Given the description of an element on the screen output the (x, y) to click on. 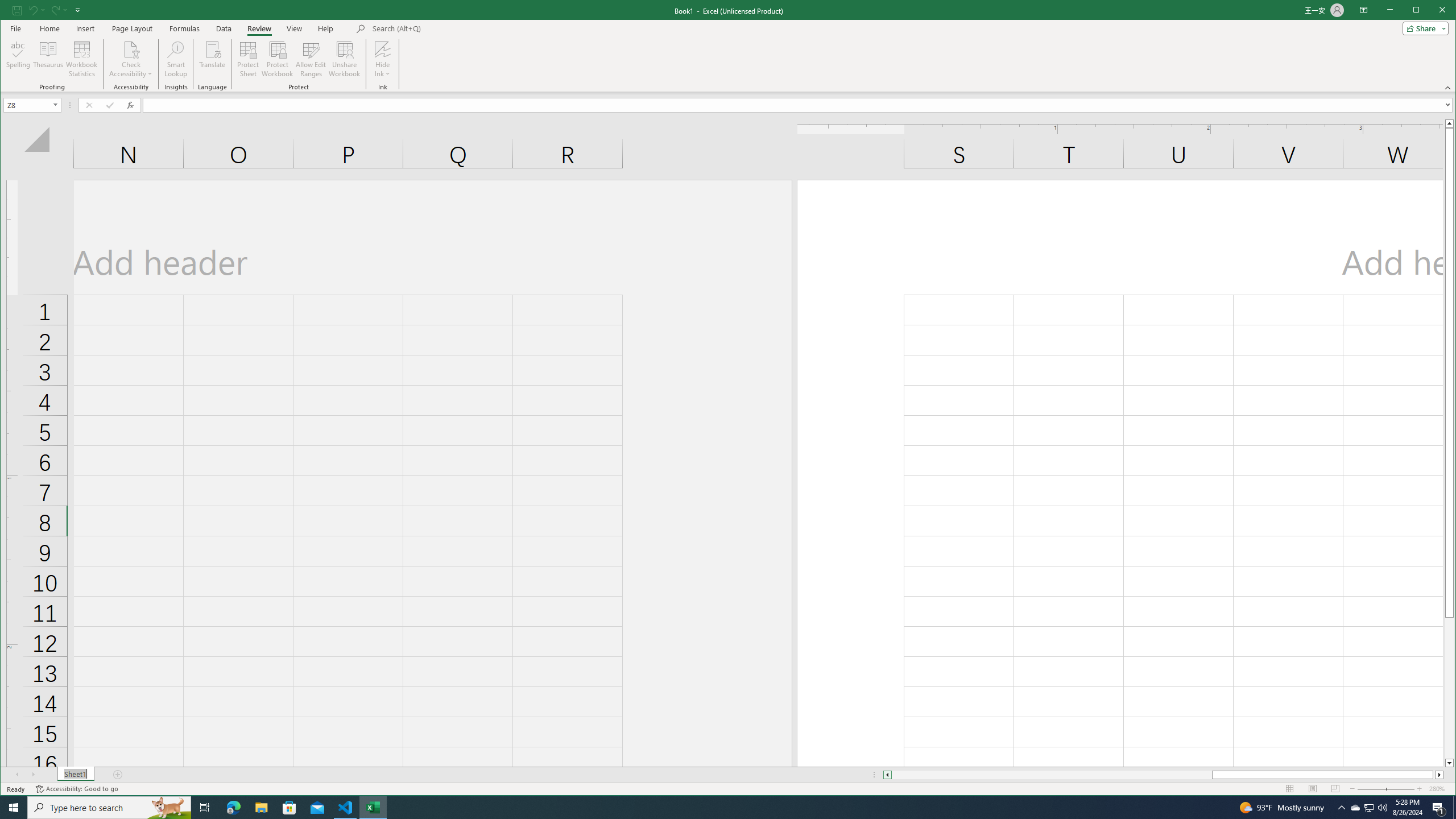
Excel - 1 running window (373, 807)
Visual Studio Code - 1 running window (345, 807)
Workbook Statistics (82, 59)
Microsoft Edge (233, 807)
File Explorer (261, 807)
